Given the description of an element on the screen output the (x, y) to click on. 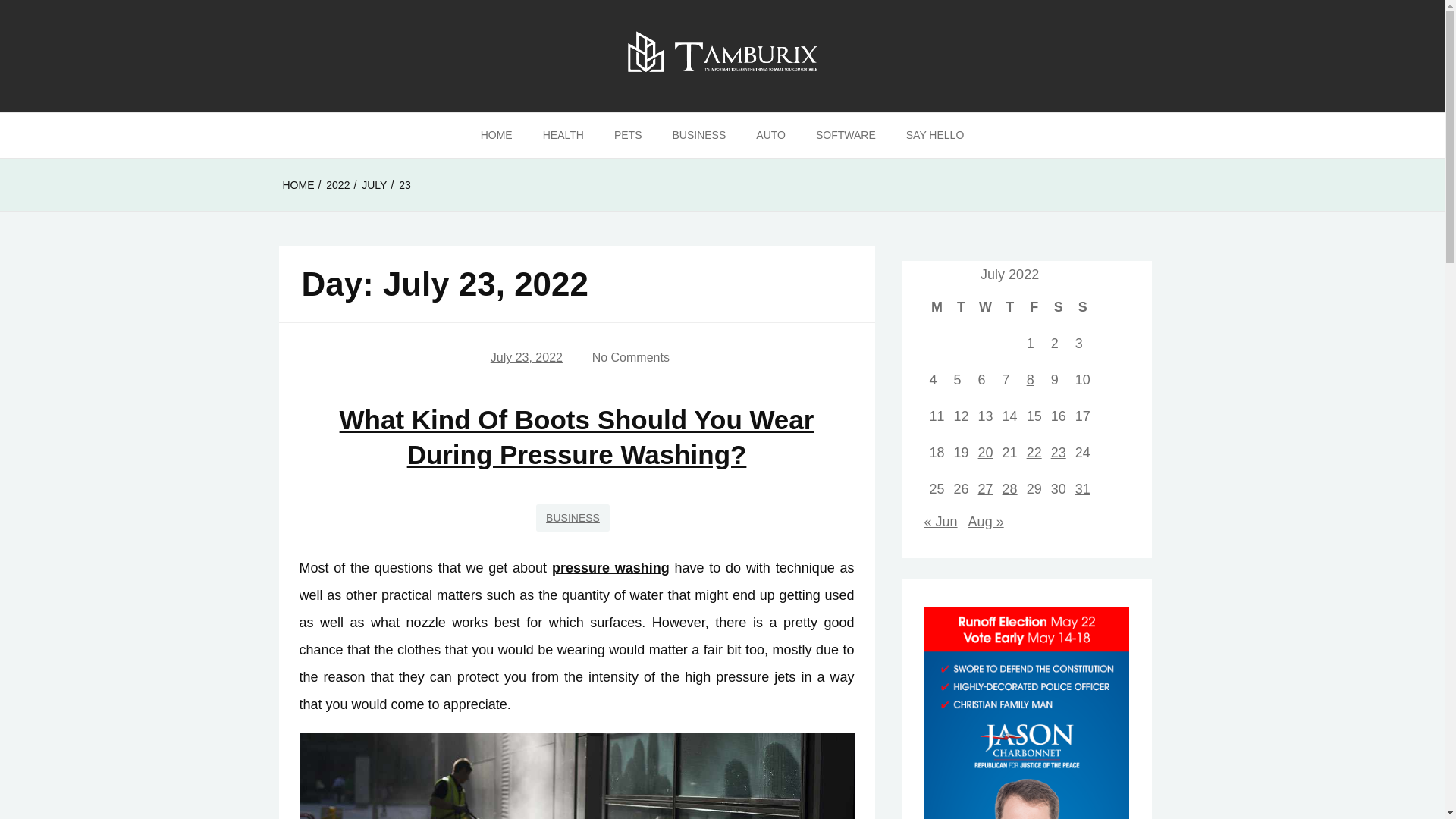
PETS (628, 135)
Tuesday (961, 306)
Sunday (1082, 306)
SAY HELLO (935, 135)
HEALTH (562, 135)
JULY (374, 185)
Wednesday (985, 306)
SOFTWARE (845, 135)
Tamburix (73, 137)
Saturday (1058, 306)
HOME (298, 185)
Monday (937, 306)
23 (404, 185)
BUSINESS (698, 135)
Thursday (1010, 306)
